Given the description of an element on the screen output the (x, y) to click on. 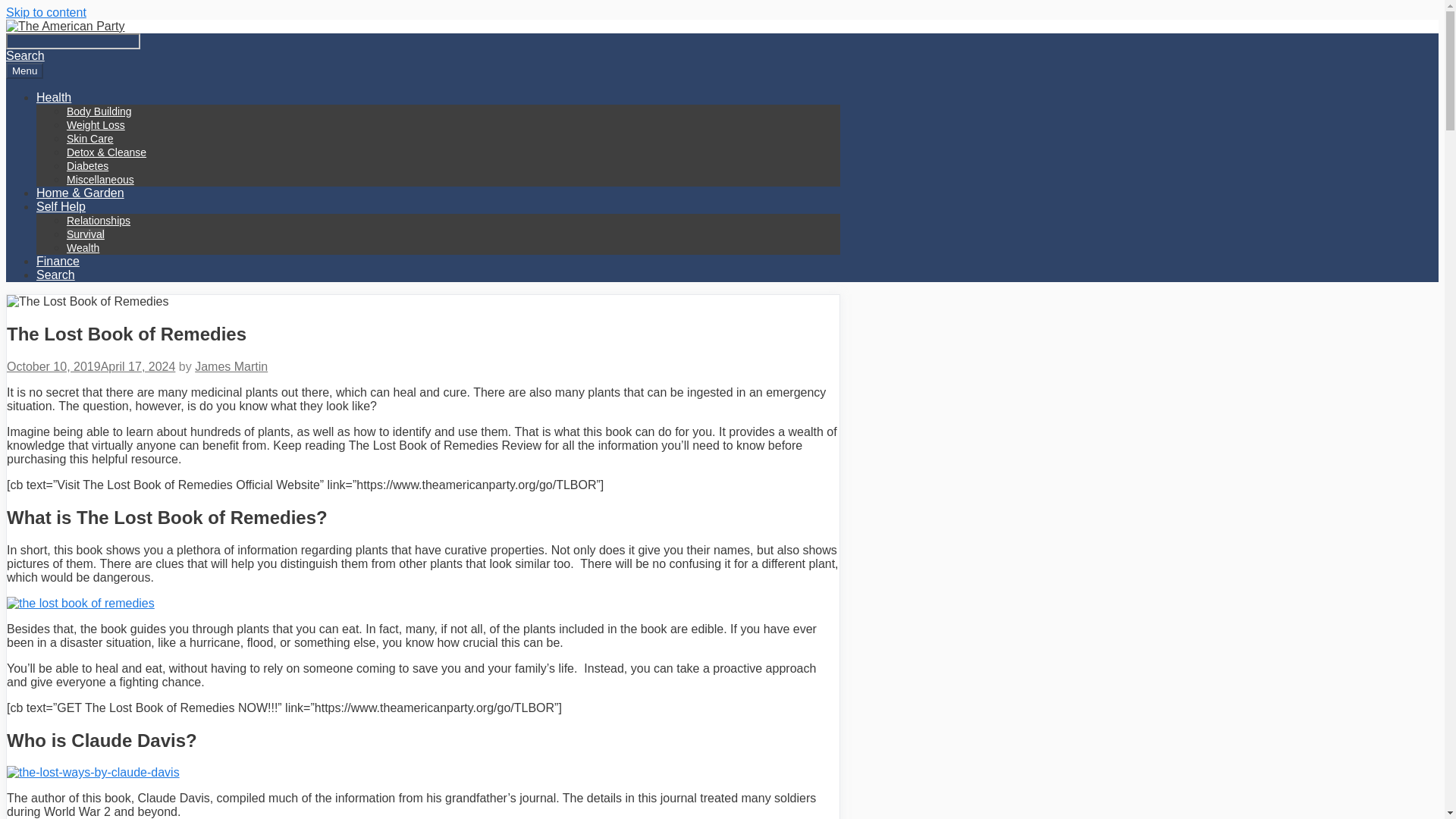
James Martin (231, 366)
Miscellaneous (99, 179)
Search (72, 41)
Search (438, 274)
October 10, 2019April 17, 2024 (90, 366)
Search (55, 274)
Skin Care (89, 138)
Diabetes (86, 165)
Skip to content (45, 11)
Finance (58, 260)
